Given the description of an element on the screen output the (x, y) to click on. 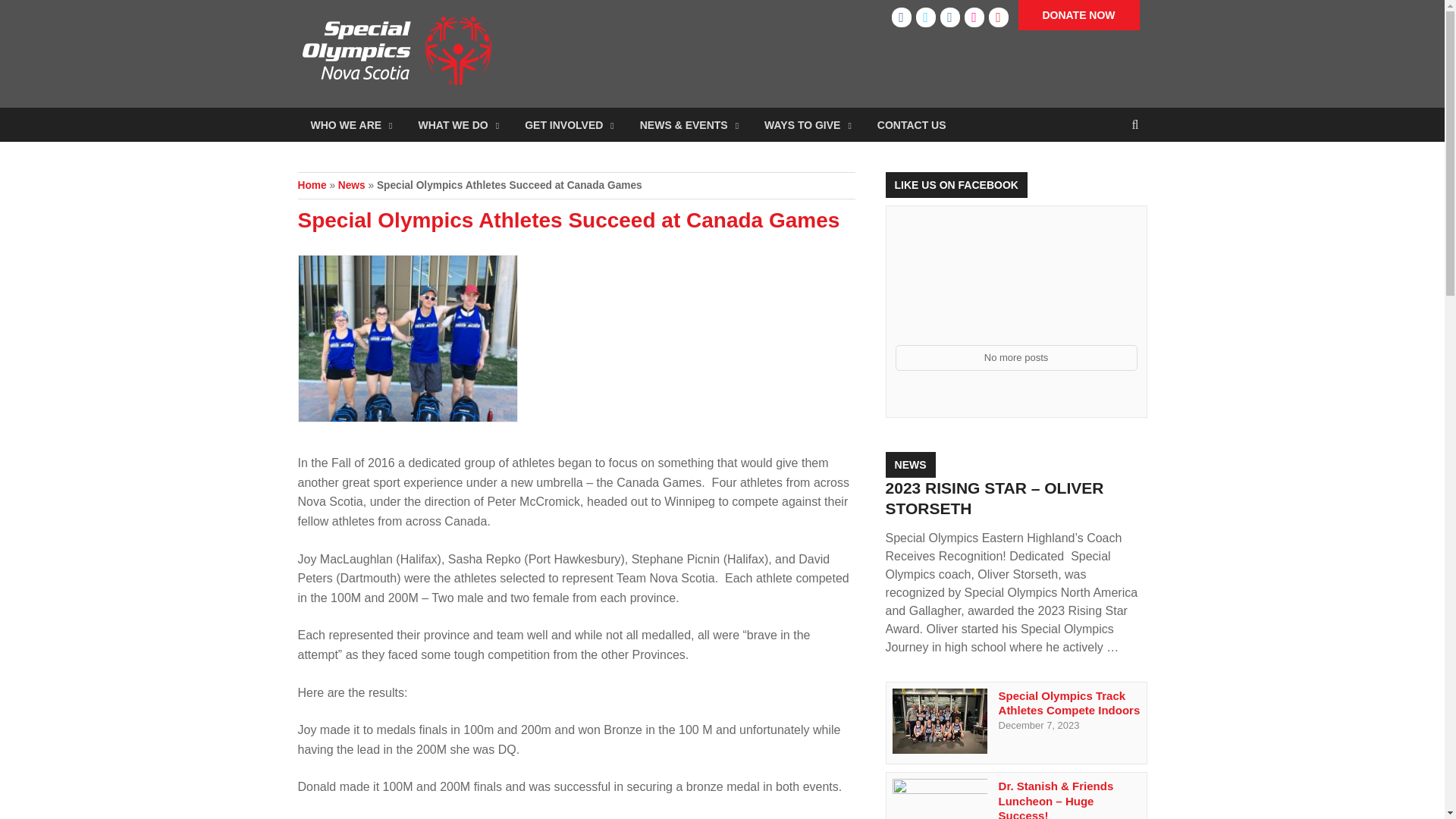
WHAT WE DO (458, 124)
Special Olympics Athletes Succeed at Canada Games (575, 344)
Special Olympics Track Athletes Compete Indoors (939, 749)
WHO WE ARE (350, 124)
DONATE NOW (1077, 15)
